Given the description of an element on the screen output the (x, y) to click on. 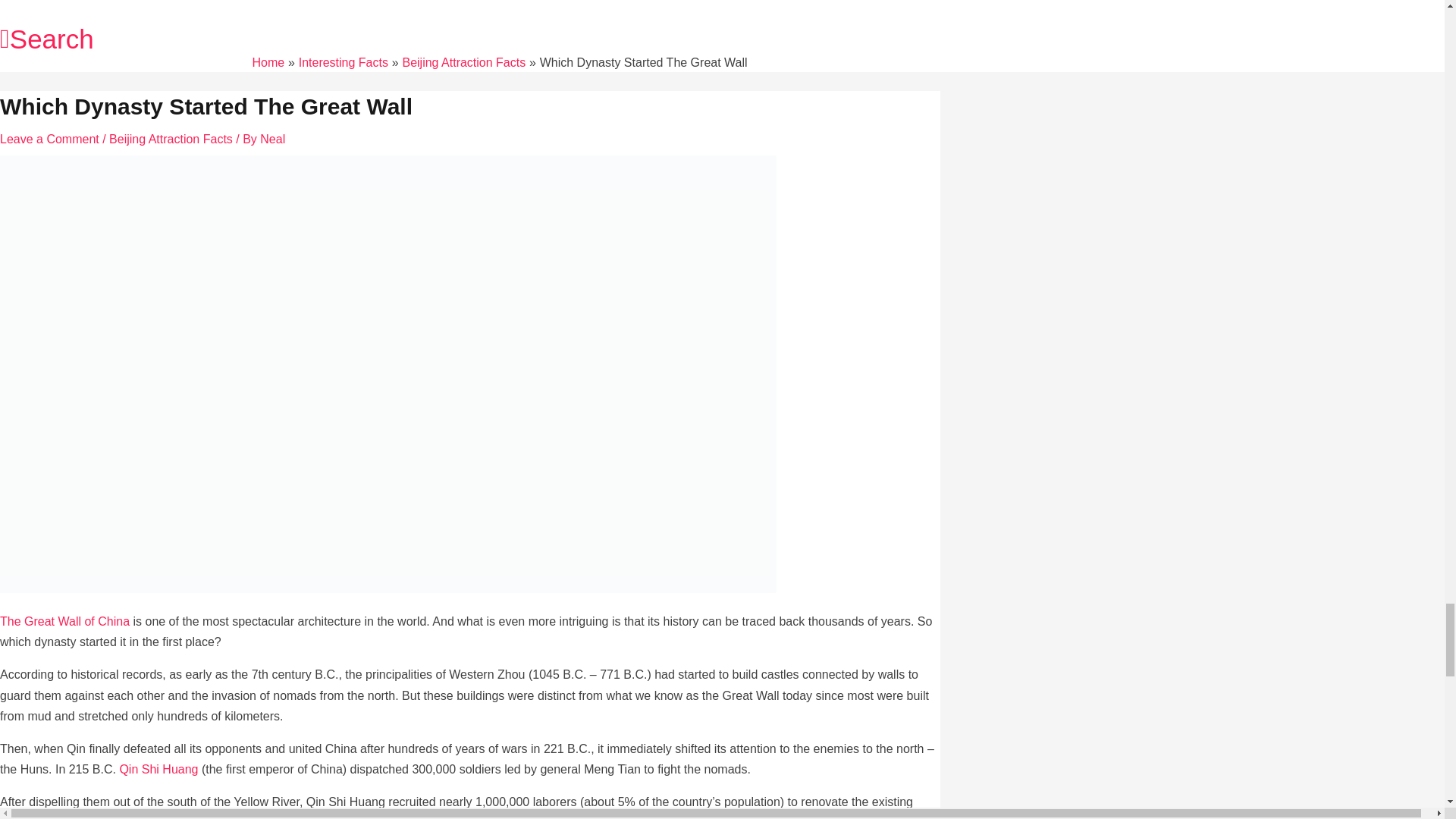
View all posts by Neal (272, 138)
